Given the description of an element on the screen output the (x, y) to click on. 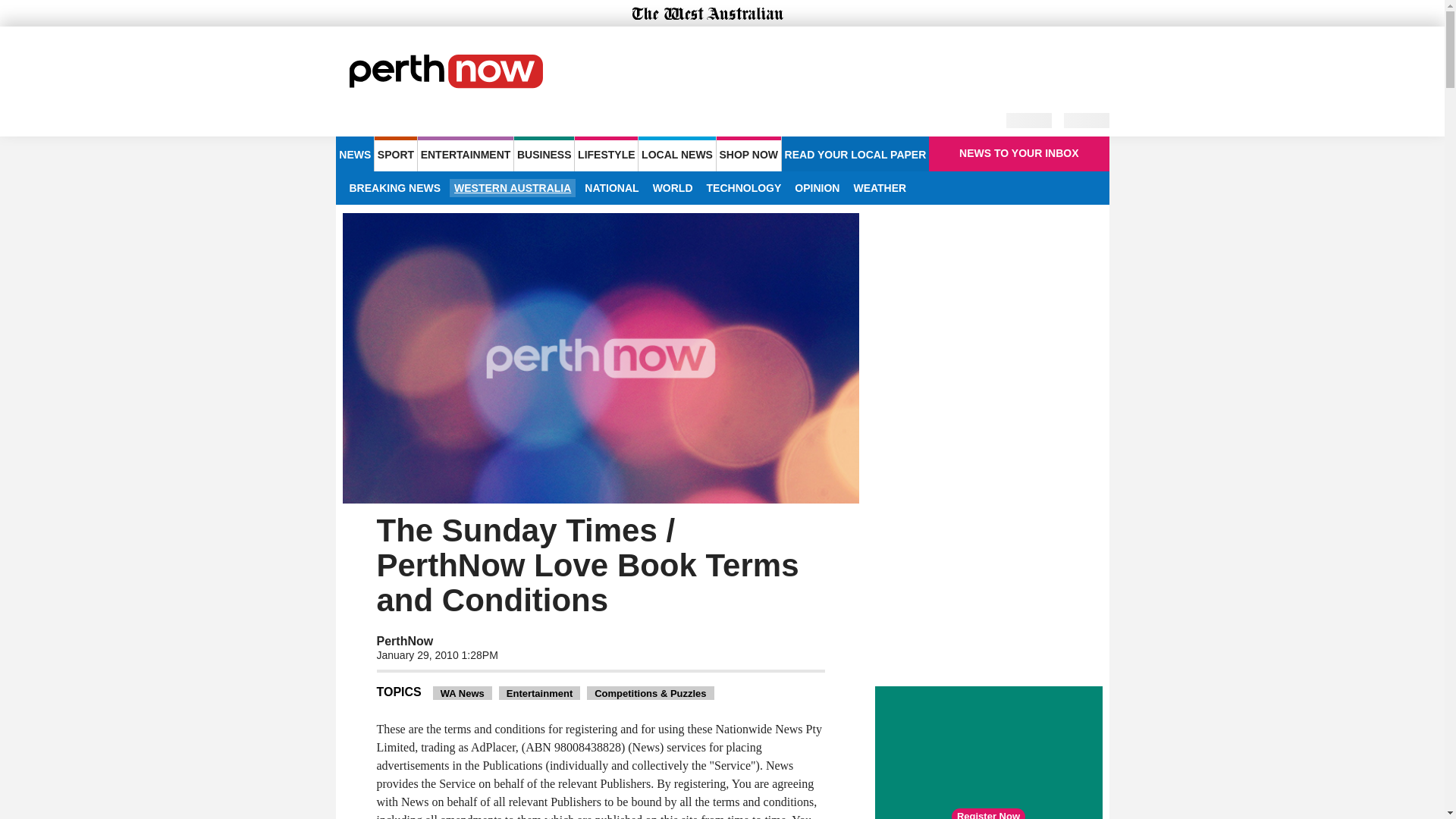
SPORT (395, 153)
BUSINESS (543, 153)
ENTERTAINMENT (465, 153)
NEWS (354, 153)
